Given the description of an element on the screen output the (x, y) to click on. 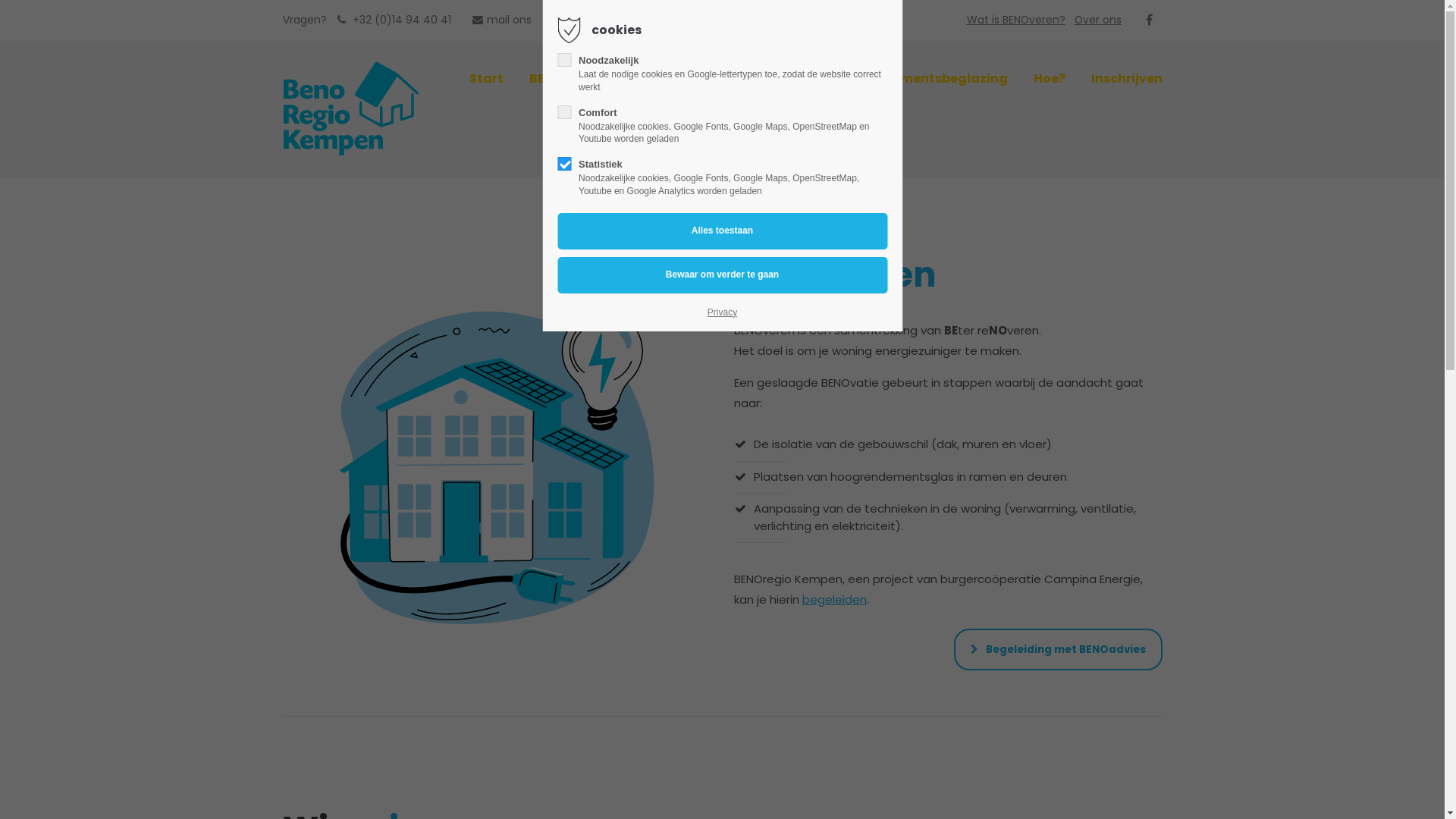
begeleiden Element type: text (834, 599)
Alles toestaan Element type: text (722, 231)
Inschrijven Element type: text (1125, 78)
BENOvatie-advies Element type: text (588, 78)
Hoe? Element type: text (1048, 78)
Over ons Element type: text (1097, 19)
Wat is BENOveren? Element type: text (1015, 19)
Hoogrendementsbeglazing Element type: text (916, 78)
Bewaar om verder te gaan Element type: text (722, 275)
mail ons Element type: text (499, 20)
Spouwmuurisolatie Element type: text (736, 78)
Begeleiding met BENOadvies Element type: text (1057, 649)
Start Element type: text (485, 78)
Privacy Element type: text (722, 312)
